Given the description of an element on the screen output the (x, y) to click on. 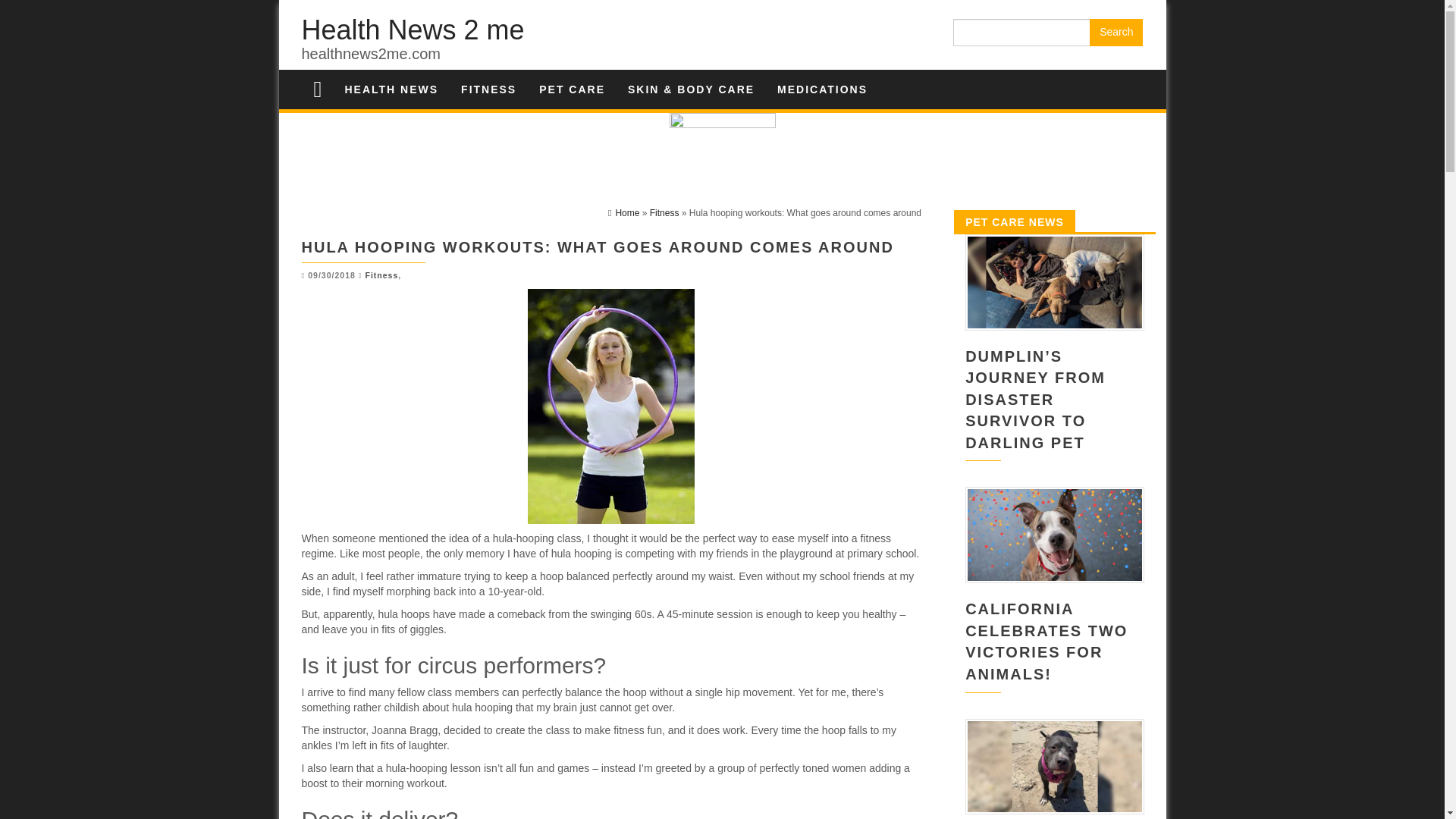
Search (1115, 31)
FITNESS (488, 89)
Search (1115, 31)
MEDICATIONS (822, 89)
PET CARE (571, 89)
Fitness (664, 213)
Fitness (381, 275)
View all posts in Fitness (381, 275)
Health News (391, 89)
Pet Care (571, 89)
Home (623, 213)
Health News 2 me (412, 29)
Fitness (488, 89)
Medications (822, 89)
Health News 2 me (412, 29)
